Given the description of an element on the screen output the (x, y) to click on. 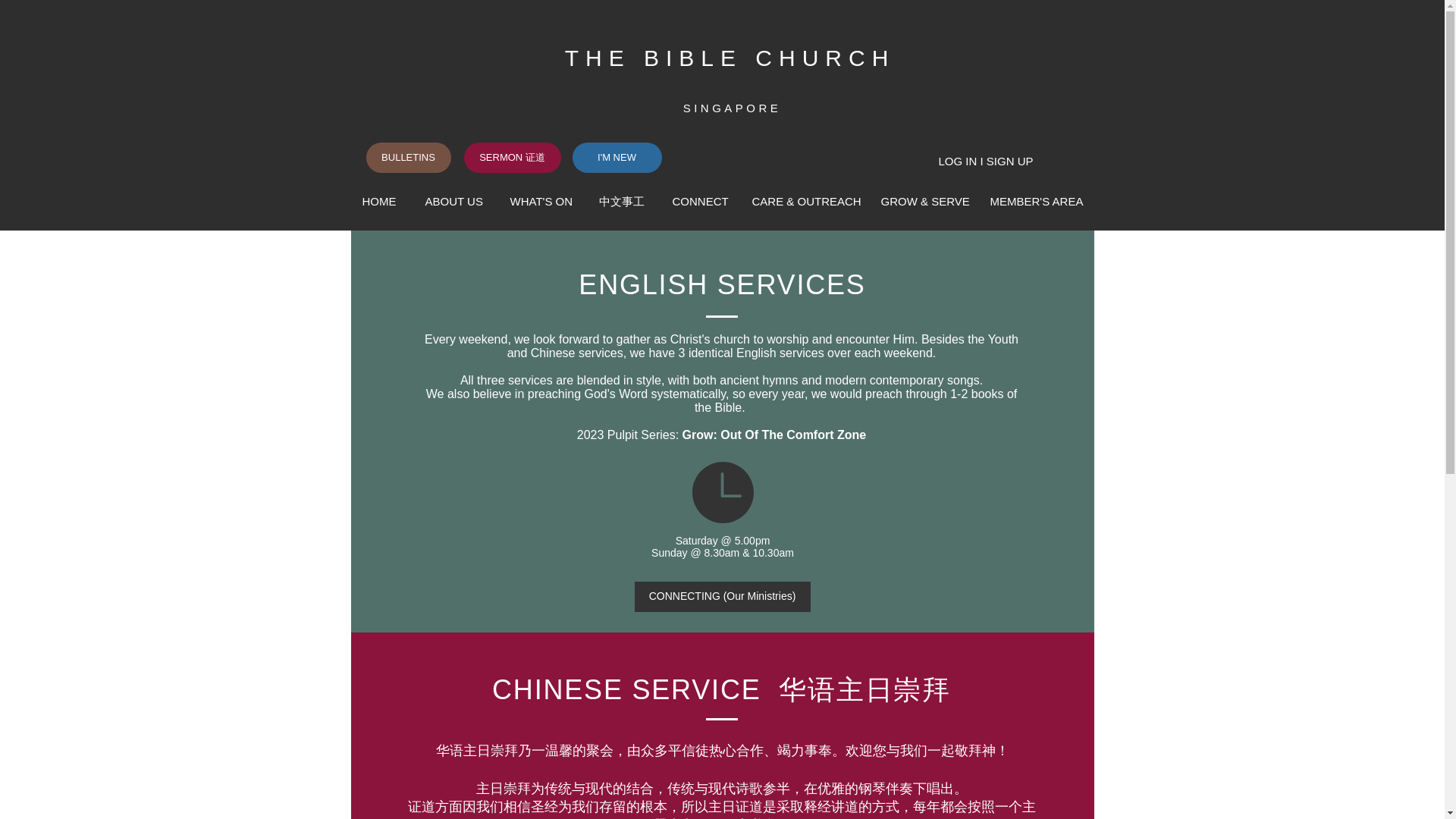
I'M NEW (616, 157)
BULLETINS (407, 157)
MEMBER'S AREA (1035, 201)
ABOUT US (456, 201)
LOG IN I SIGN UP (985, 160)
WHAT'S ON (543, 201)
HOME (381, 201)
